Given the description of an element on the screen output the (x, y) to click on. 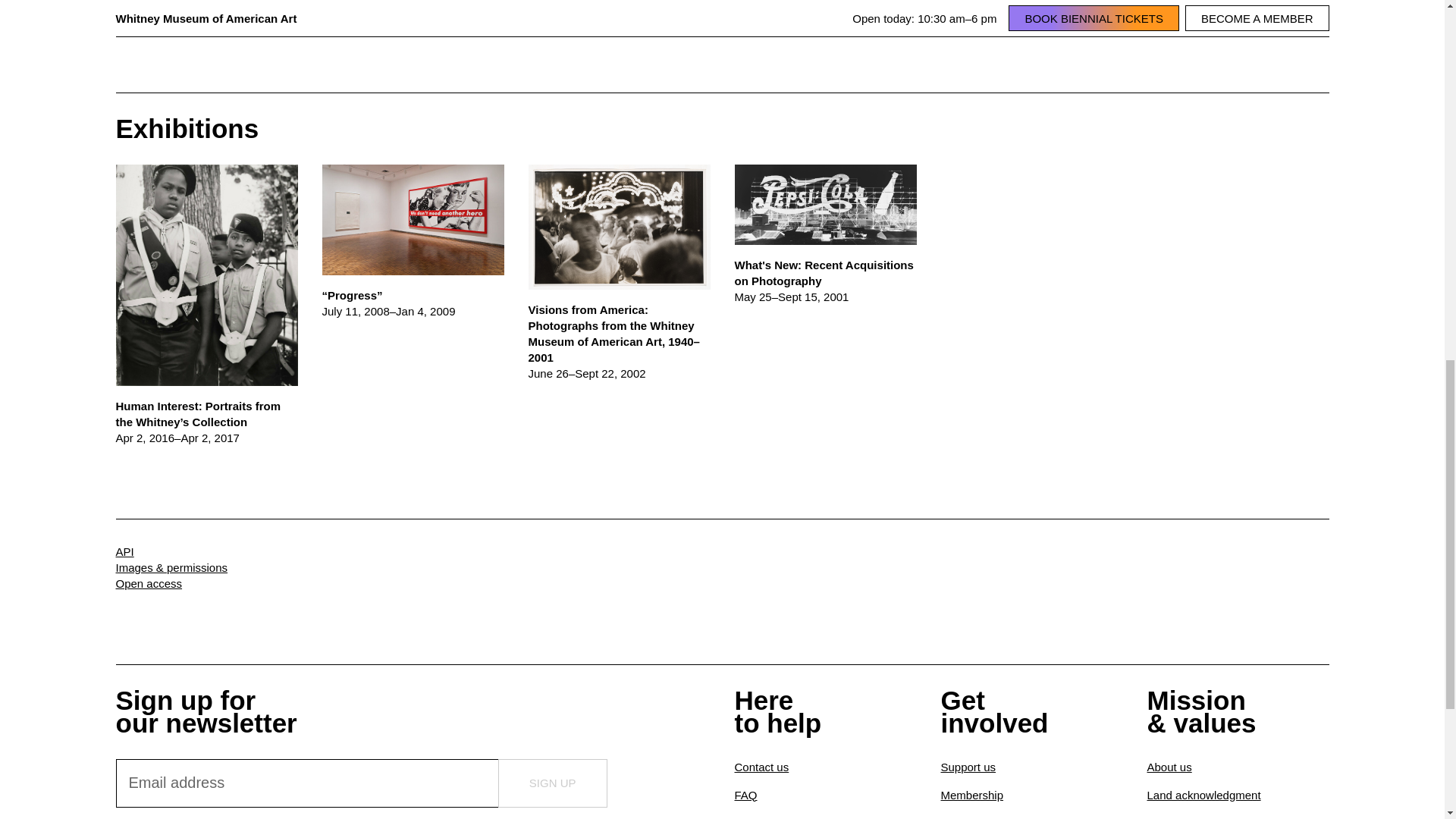
Sign up (552, 783)
